Given the description of an element on the screen output the (x, y) to click on. 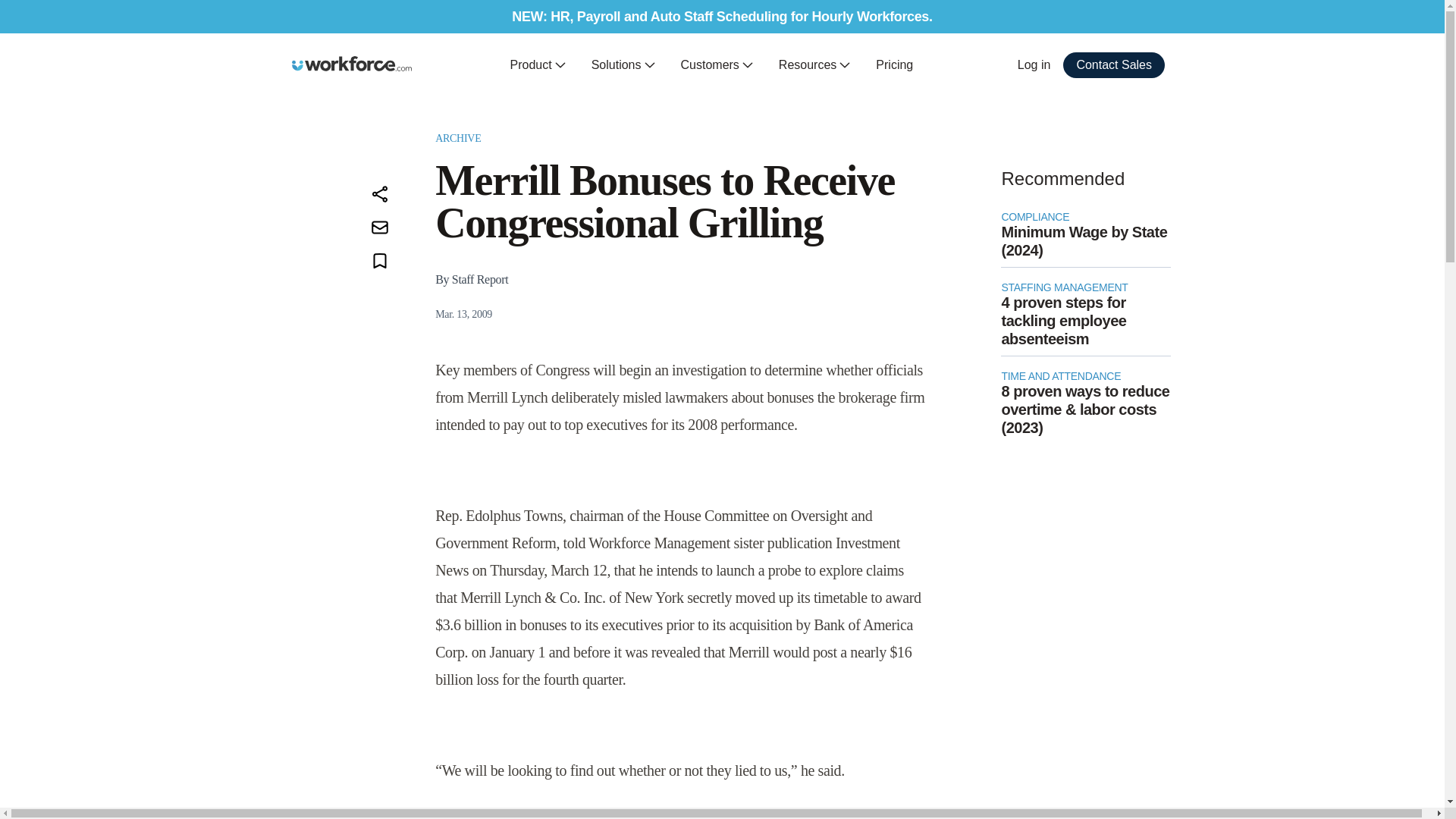
Product (539, 65)
Solutions (623, 65)
Workforce.com (351, 63)
